Given the description of an element on the screen output the (x, y) to click on. 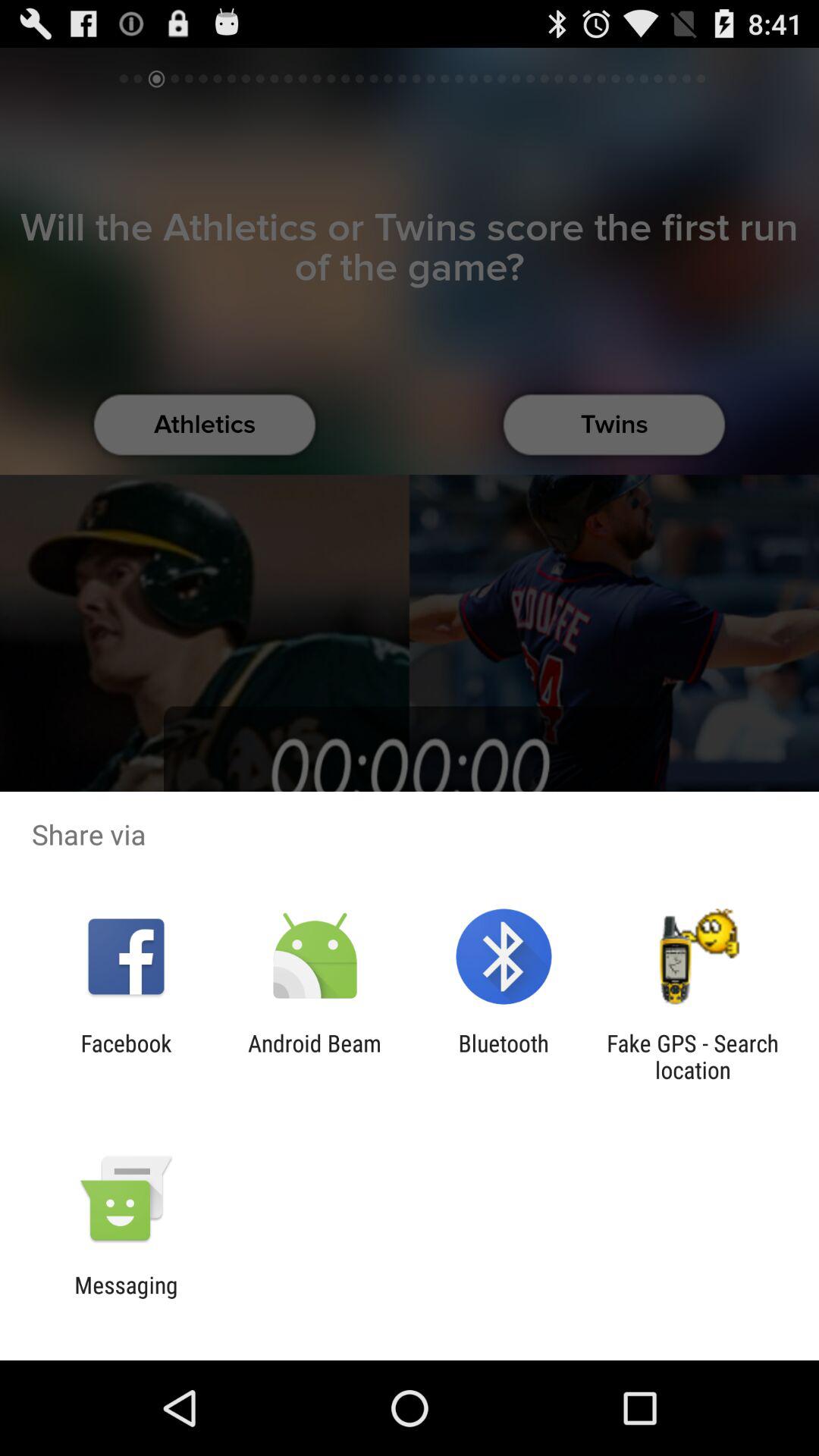
tap item next to the bluetooth icon (314, 1056)
